Given the description of an element on the screen output the (x, y) to click on. 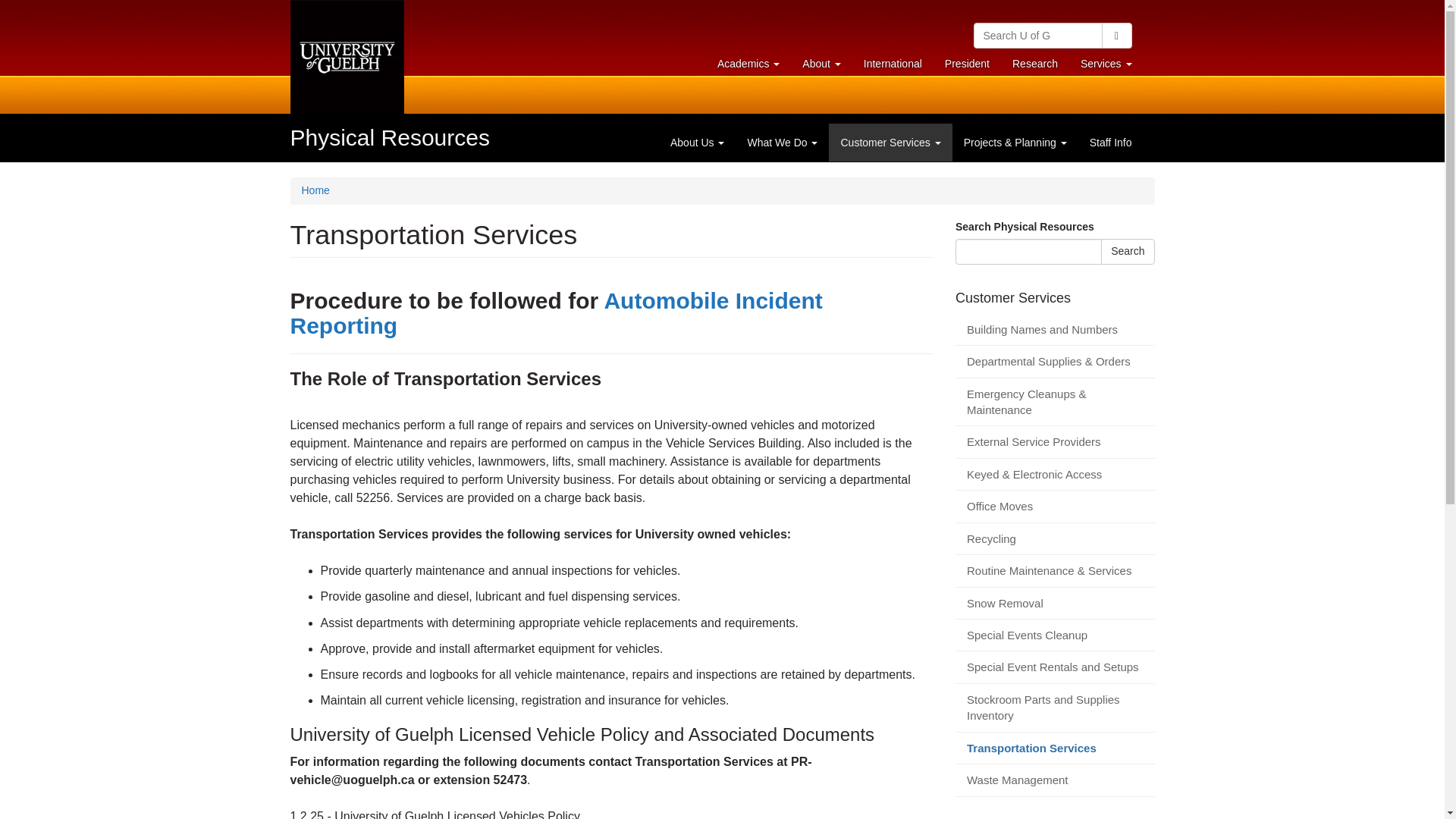
Home (820, 63)
Search (389, 137)
International (1115, 35)
President (748, 63)
Skip to main content (892, 63)
